Given the description of an element on the screen output the (x, y) to click on. 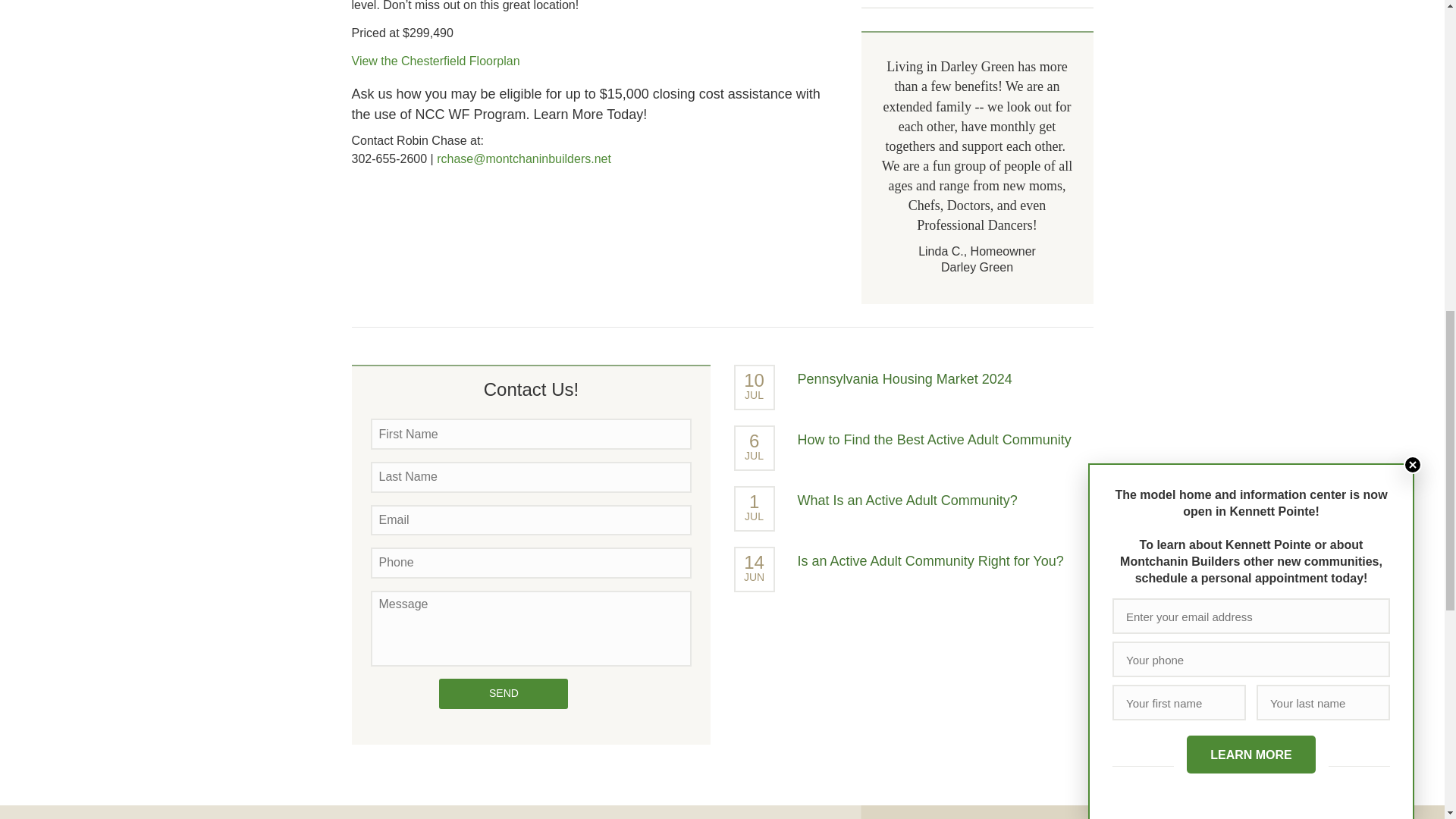
Send (503, 693)
